Given the description of an element on the screen output the (x, y) to click on. 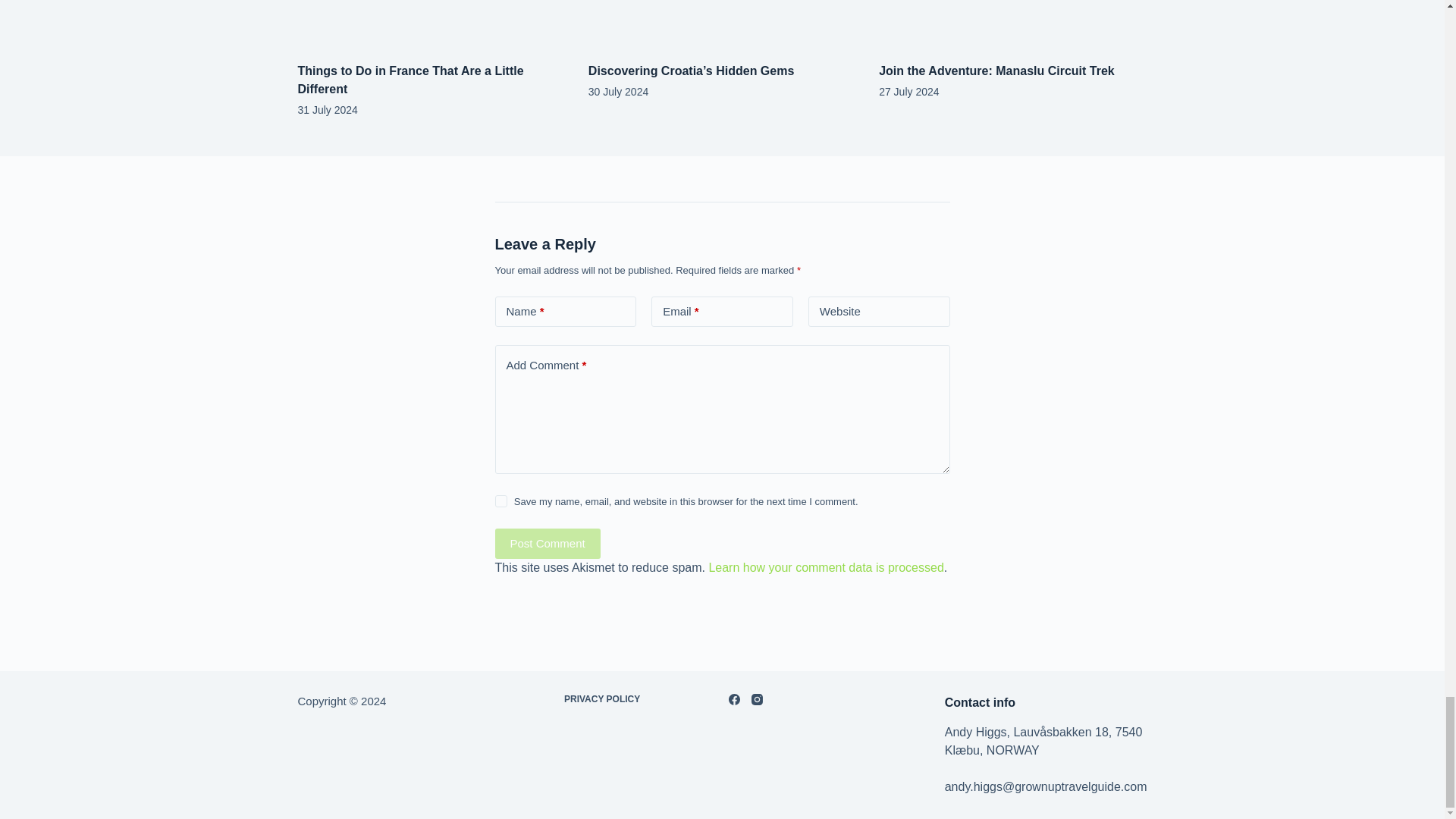
yes (500, 500)
